Given the description of an element on the screen output the (x, y) to click on. 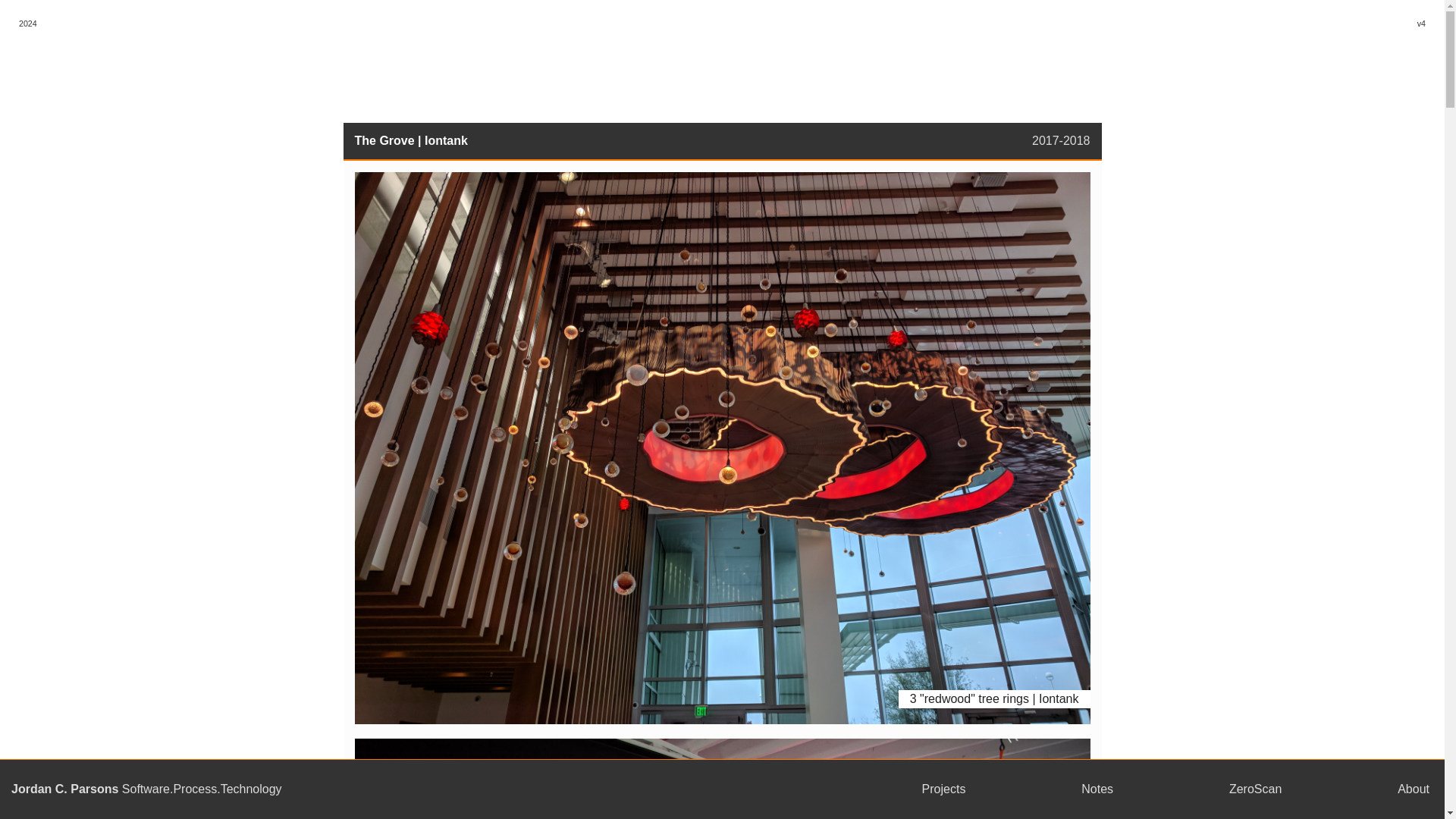
ZeroScan (1254, 789)
Jordan C. Parsons Software.Process.Technology (408, 789)
Iontank (446, 140)
Notes (1097, 789)
Projects (943, 789)
About (1413, 789)
